Given the description of an element on the screen output the (x, y) to click on. 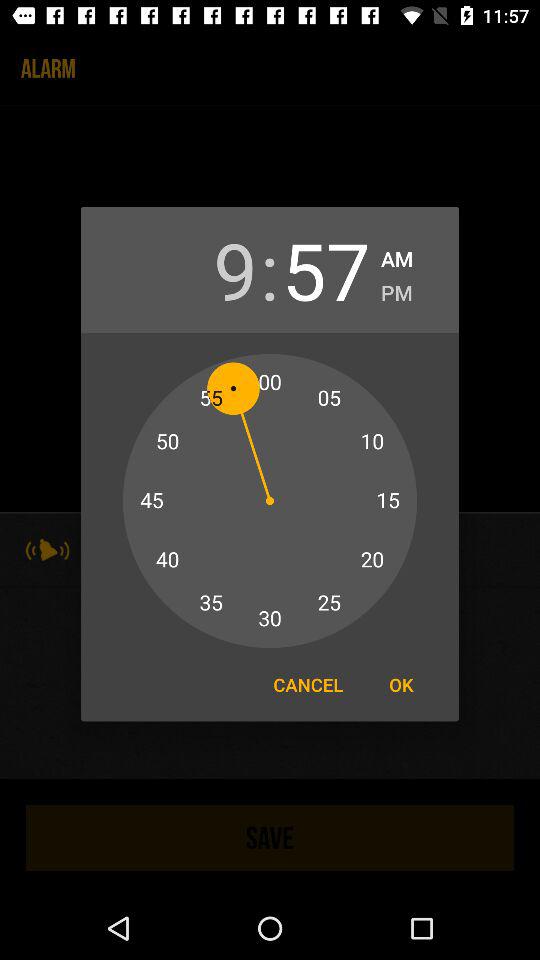
open the item to the right of 57 item (397, 256)
